Given the description of an element on the screen output the (x, y) to click on. 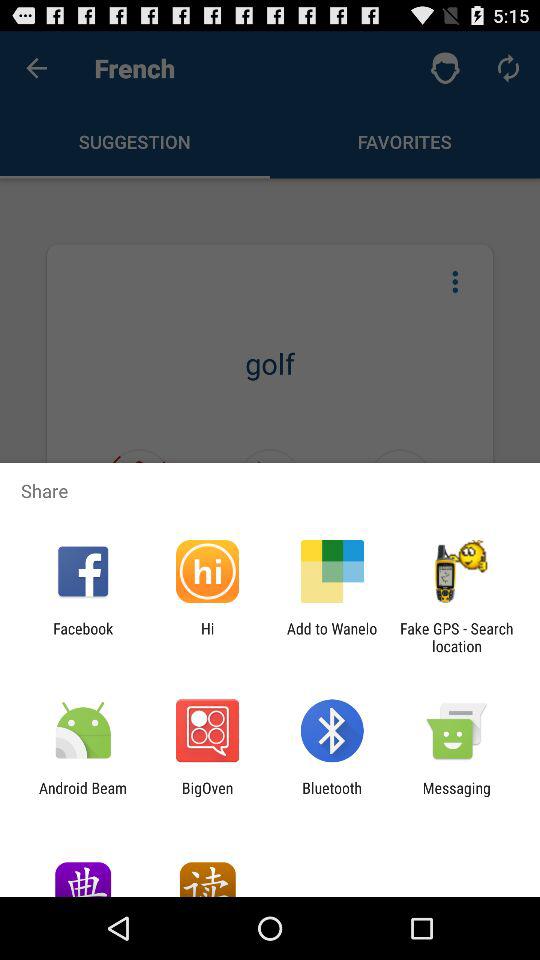
press icon to the left of the bluetooth item (207, 796)
